Given the description of an element on the screen output the (x, y) to click on. 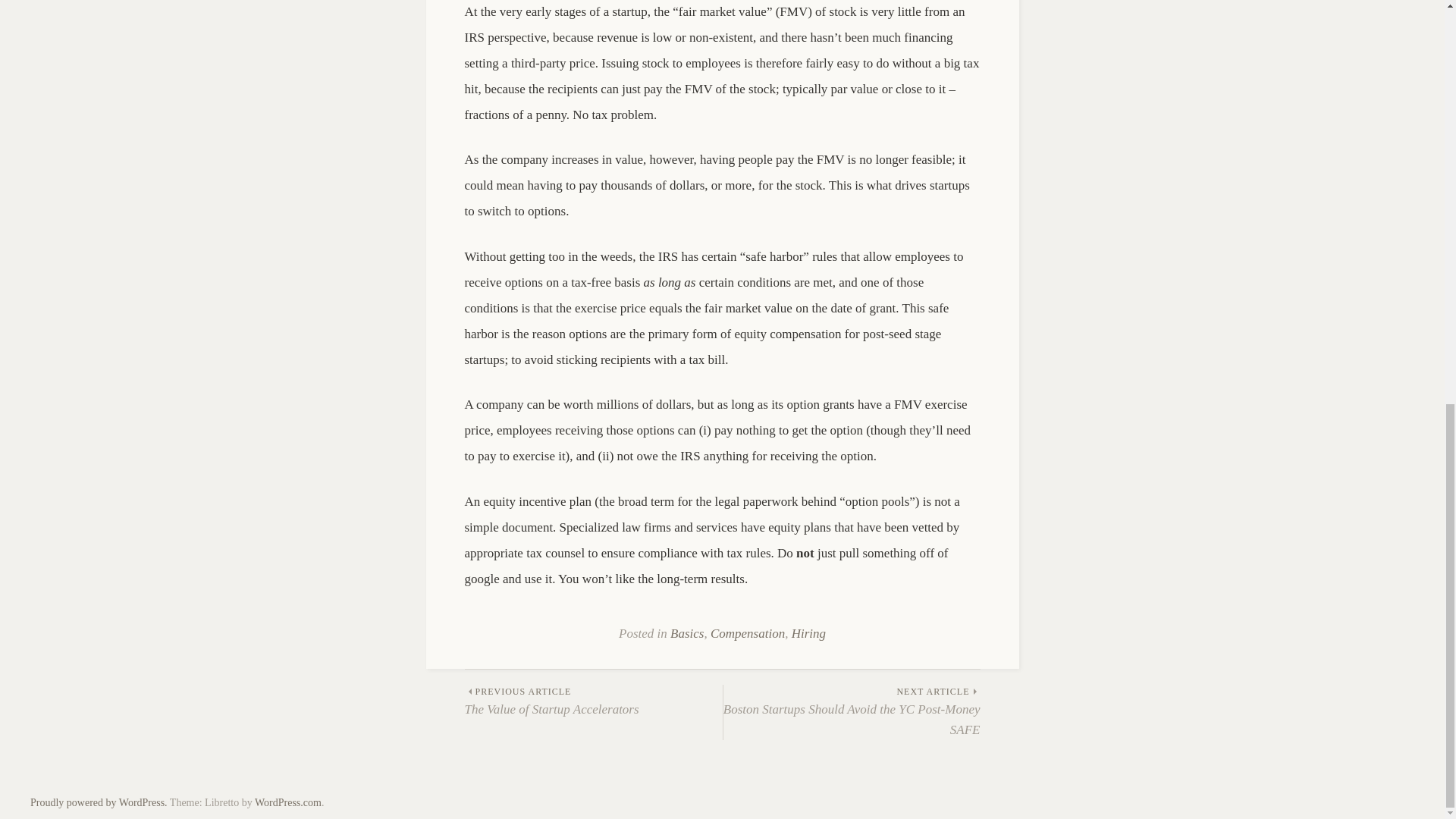
Compensation (593, 701)
Proudly powered by WordPress. (747, 633)
Hiring (98, 802)
WordPress.com (808, 633)
Basics (287, 802)
